Given the description of an element on the screen output the (x, y) to click on. 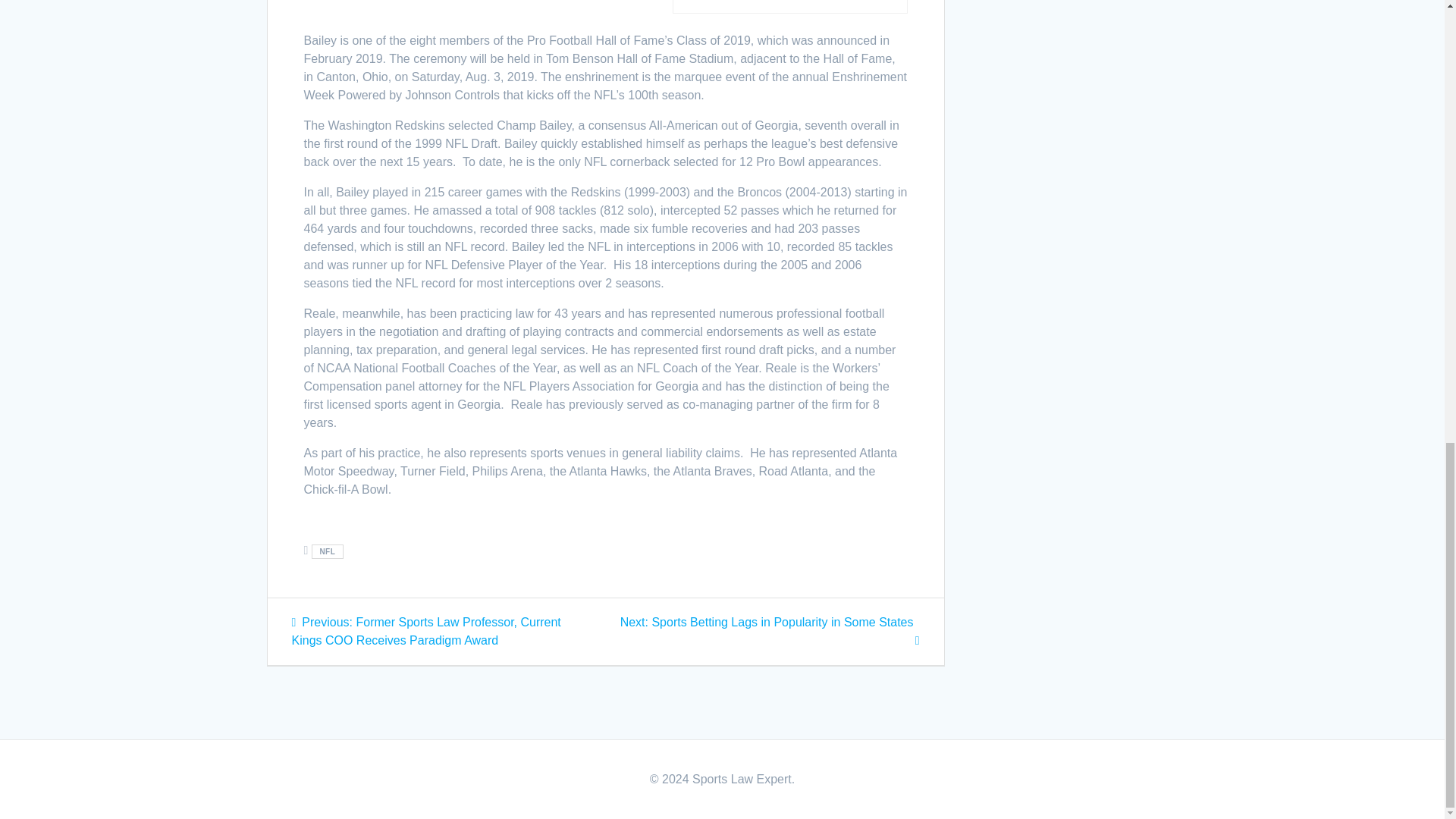
NFL (327, 551)
